Given the description of an element on the screen output the (x, y) to click on. 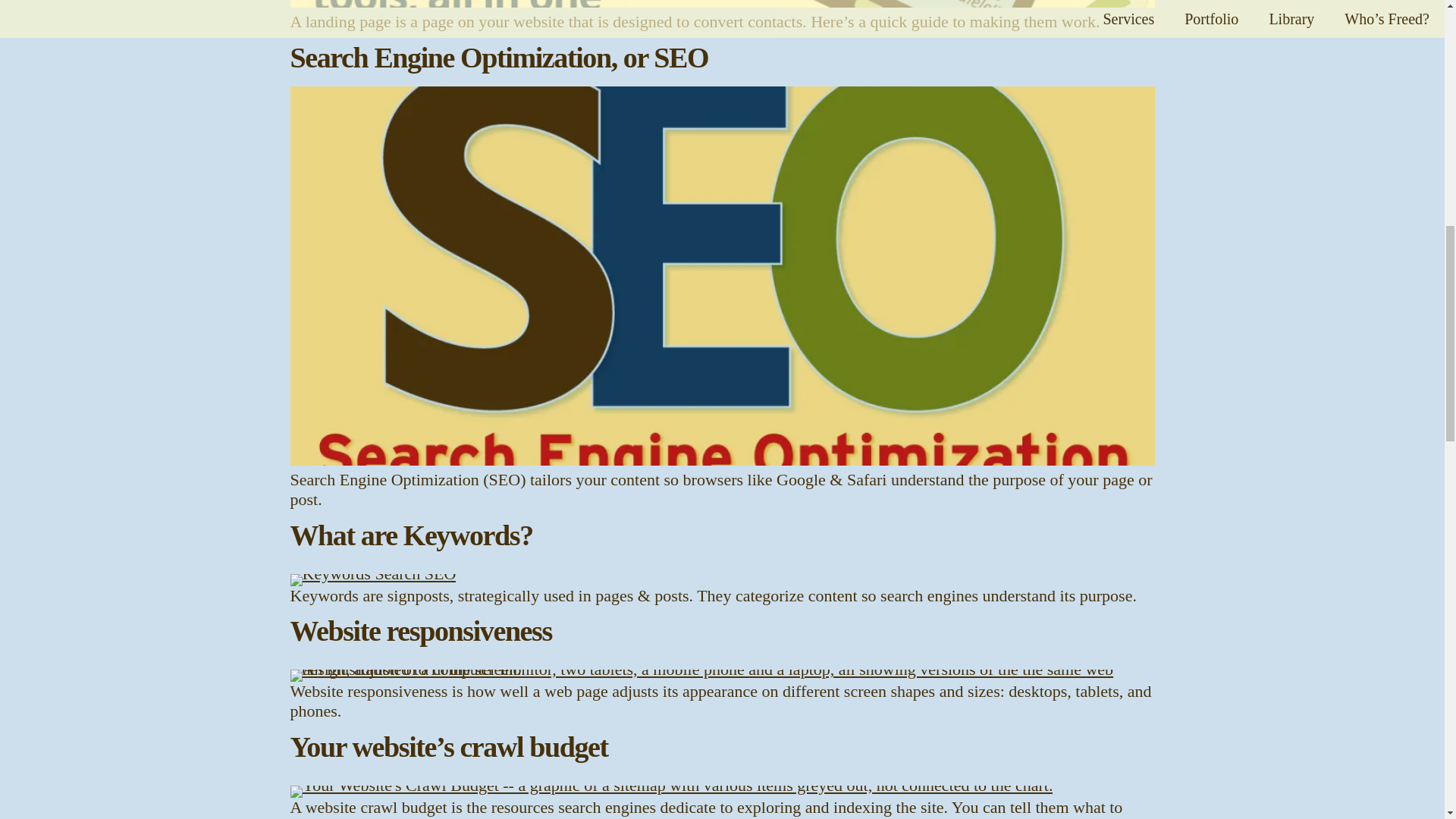
Website responsiveness (420, 631)
Search Engine Optimization, or SEO (498, 57)
What are Keywords? (410, 535)
